Given the description of an element on the screen output the (x, y) to click on. 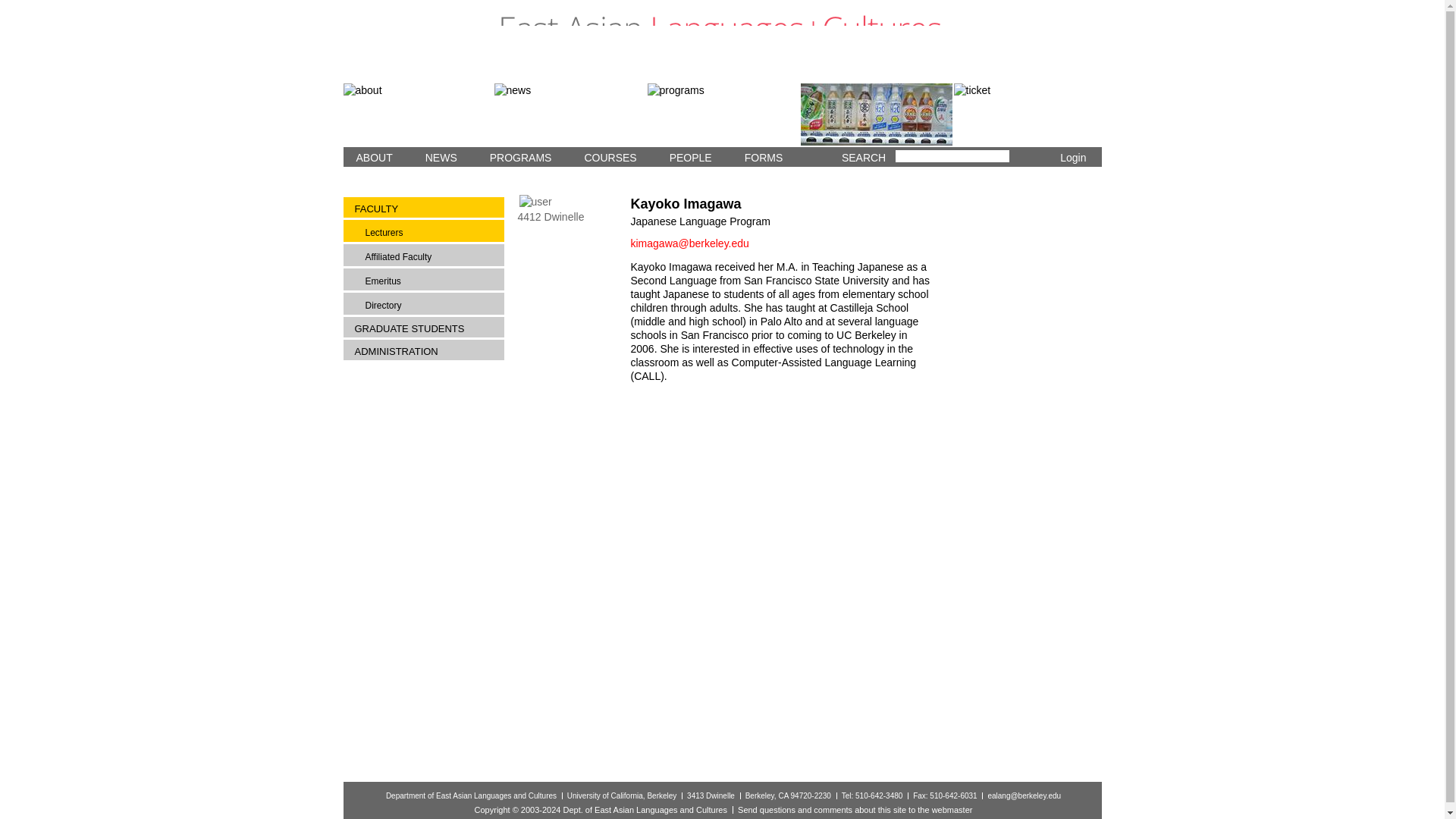
programs (723, 114)
user (534, 201)
Emeritus (429, 280)
FORMS (760, 157)
PROGRAMS (517, 157)
Search (1019, 157)
ticket (1027, 114)
courses (876, 114)
PEOPLE (686, 157)
about (417, 114)
